Given the description of an element on the screen output the (x, y) to click on. 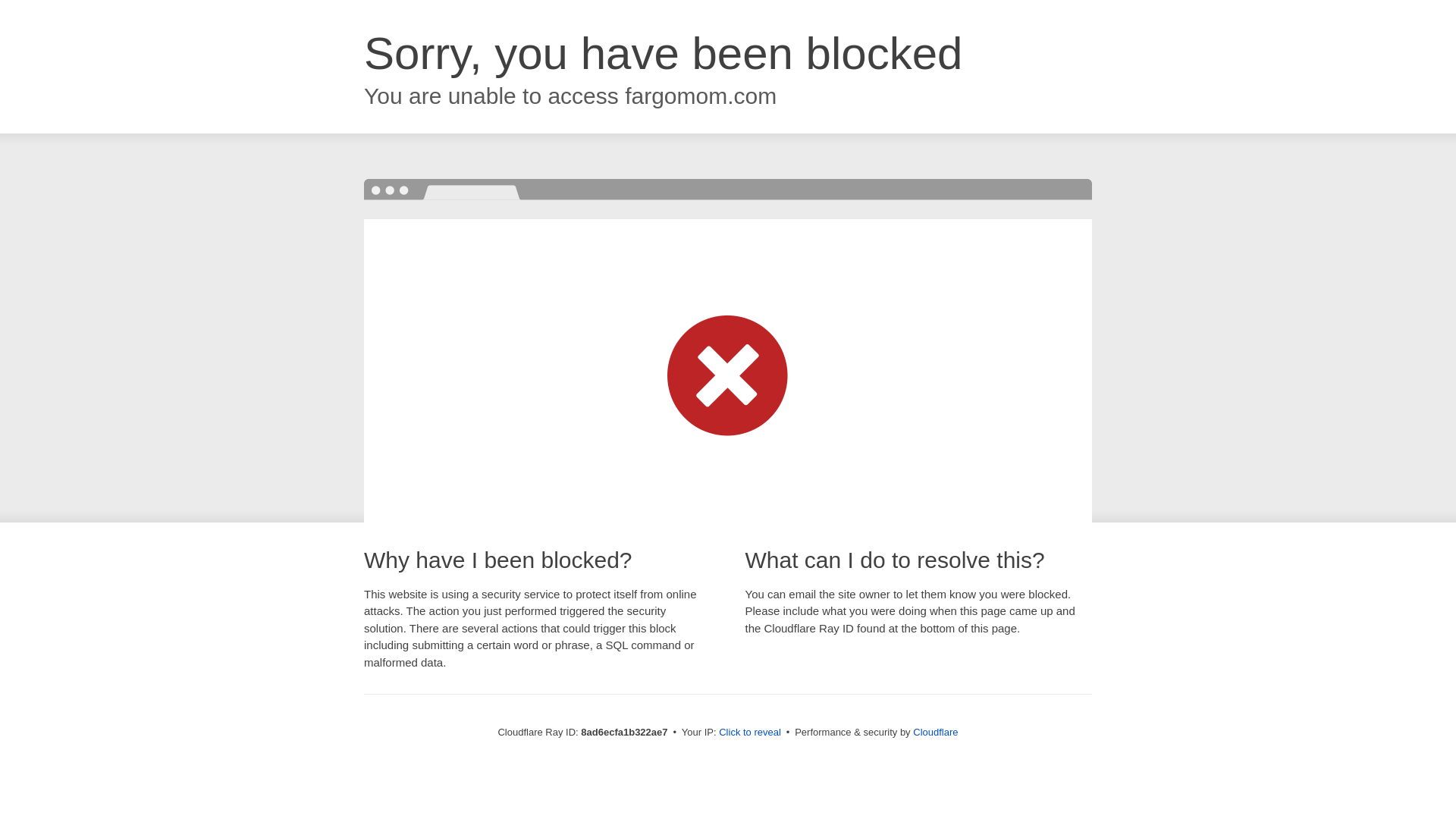
Click to reveal (749, 732)
Cloudflare (935, 731)
